Given the description of an element on the screen output the (x, y) to click on. 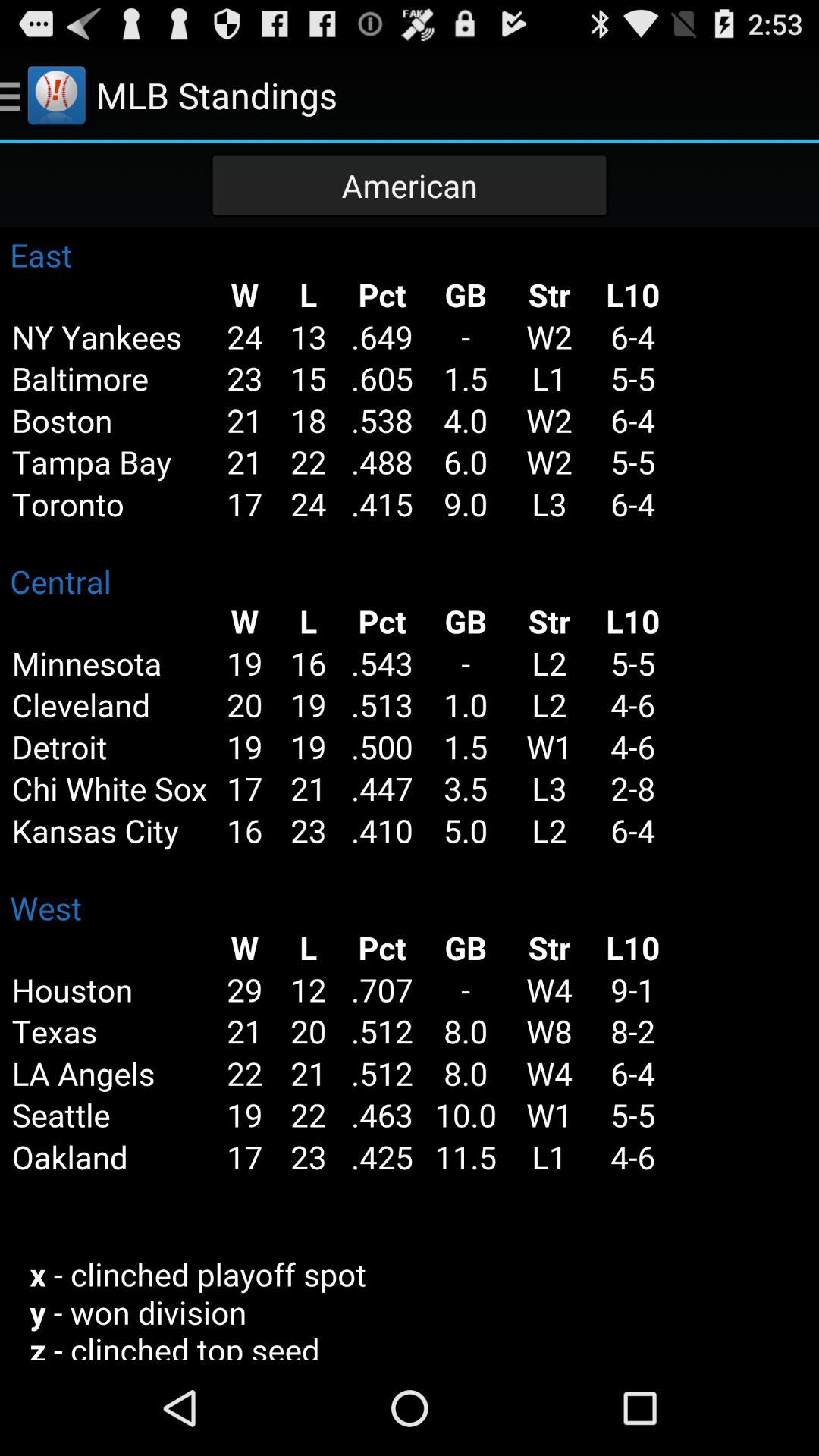
click the whole box (409, 793)
